Given the description of an element on the screen output the (x, y) to click on. 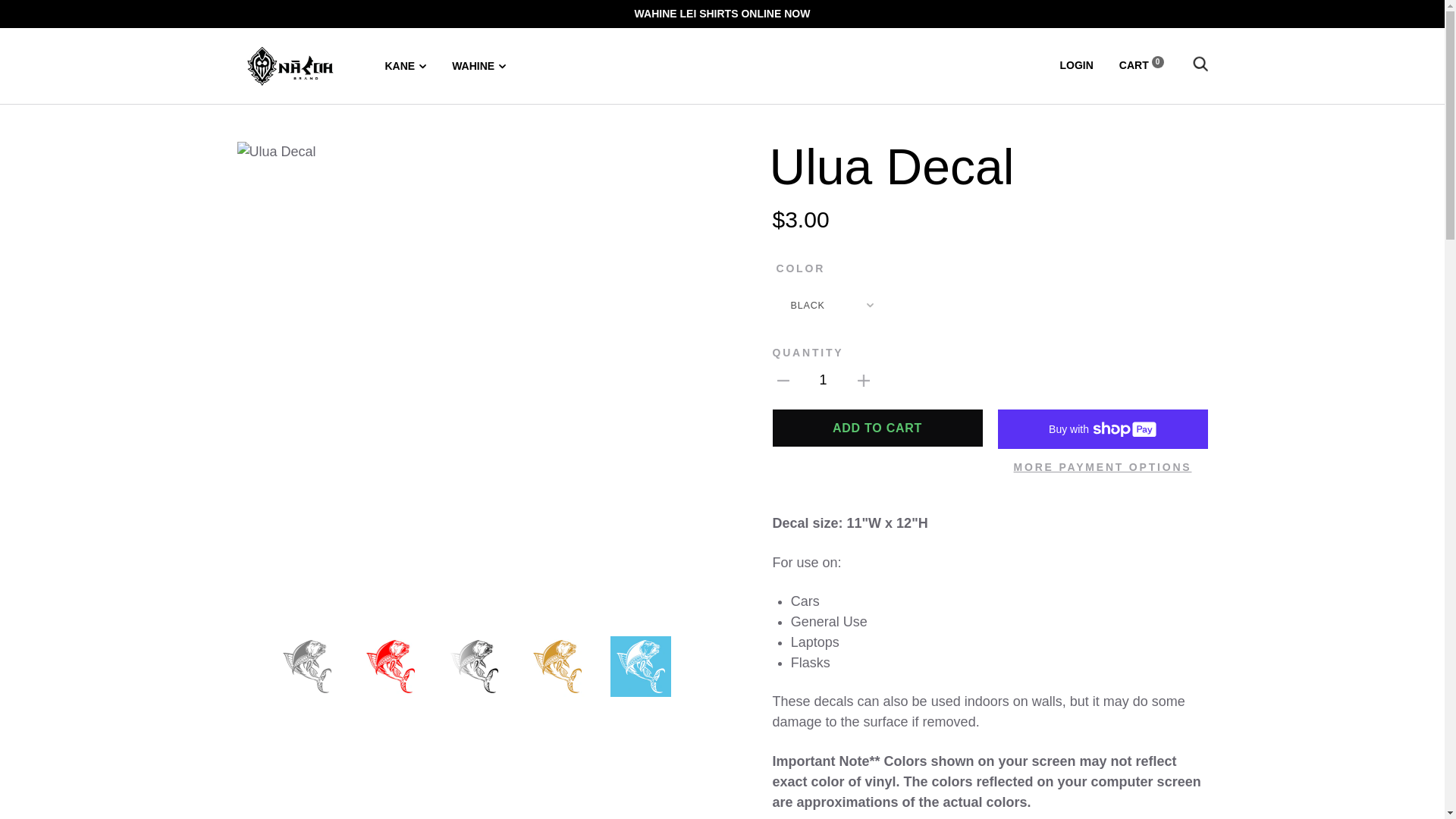
KANE (405, 65)
LOGIN (1076, 64)
WAHINE (478, 65)
Decrease quantity by 1 (782, 380)
MORE PAYMENT OPTIONS (1102, 467)
CART 0 (1141, 64)
ADD TO CART (876, 427)
Increase quantity by 1 (864, 380)
